Given the description of an element on the screen output the (x, y) to click on. 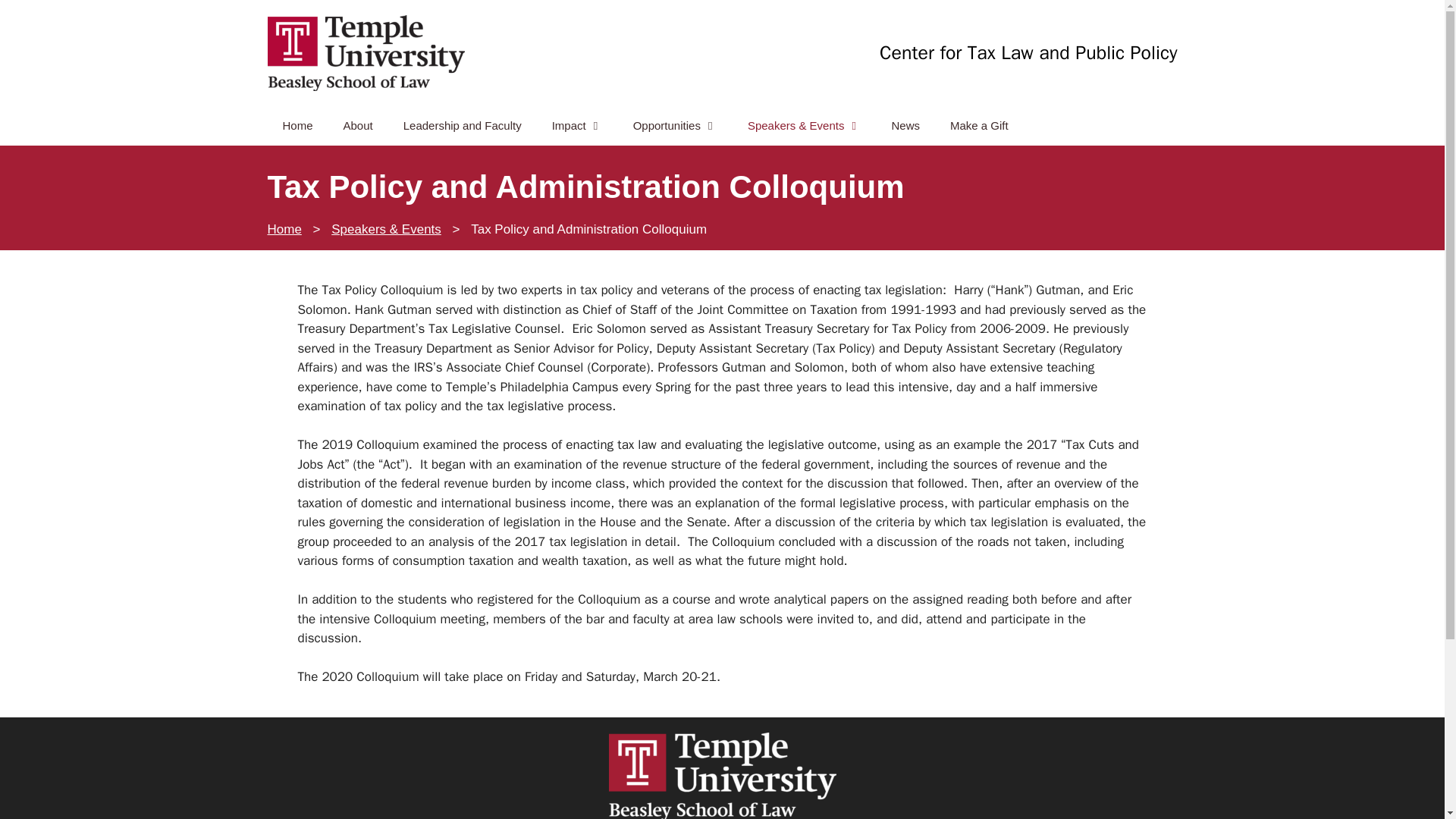
Opportunities (675, 125)
Center for Tax Law and Public Policy (1027, 52)
Center for Tax Law and Public Policy (365, 51)
Leadership and Faculty (462, 125)
Center for Tax Law and Public Policy (365, 52)
Impact (576, 125)
